Given the description of an element on the screen output the (x, y) to click on. 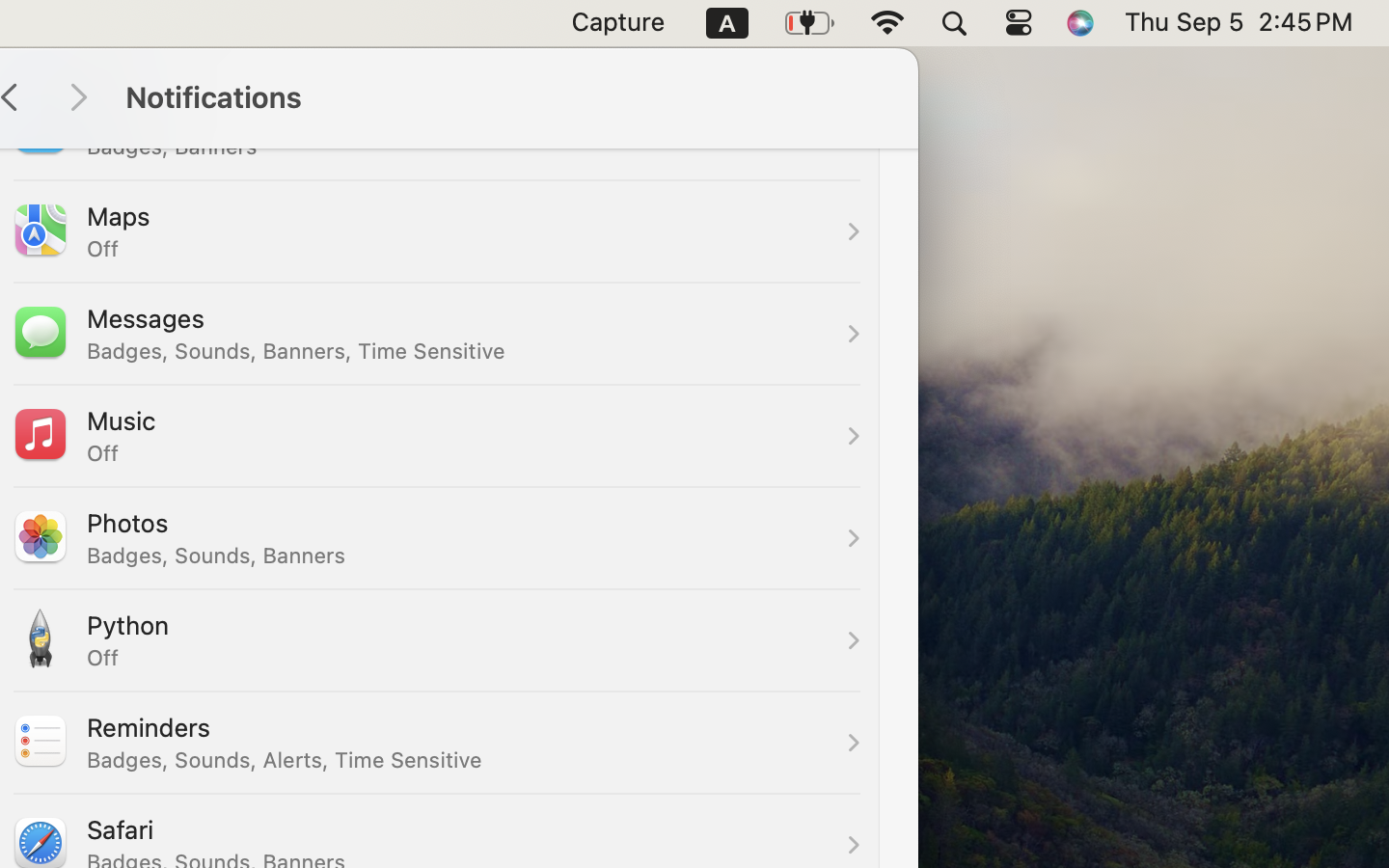
Notifications Element type: AXStaticText (501, 98)
